Given the description of an element on the screen output the (x, y) to click on. 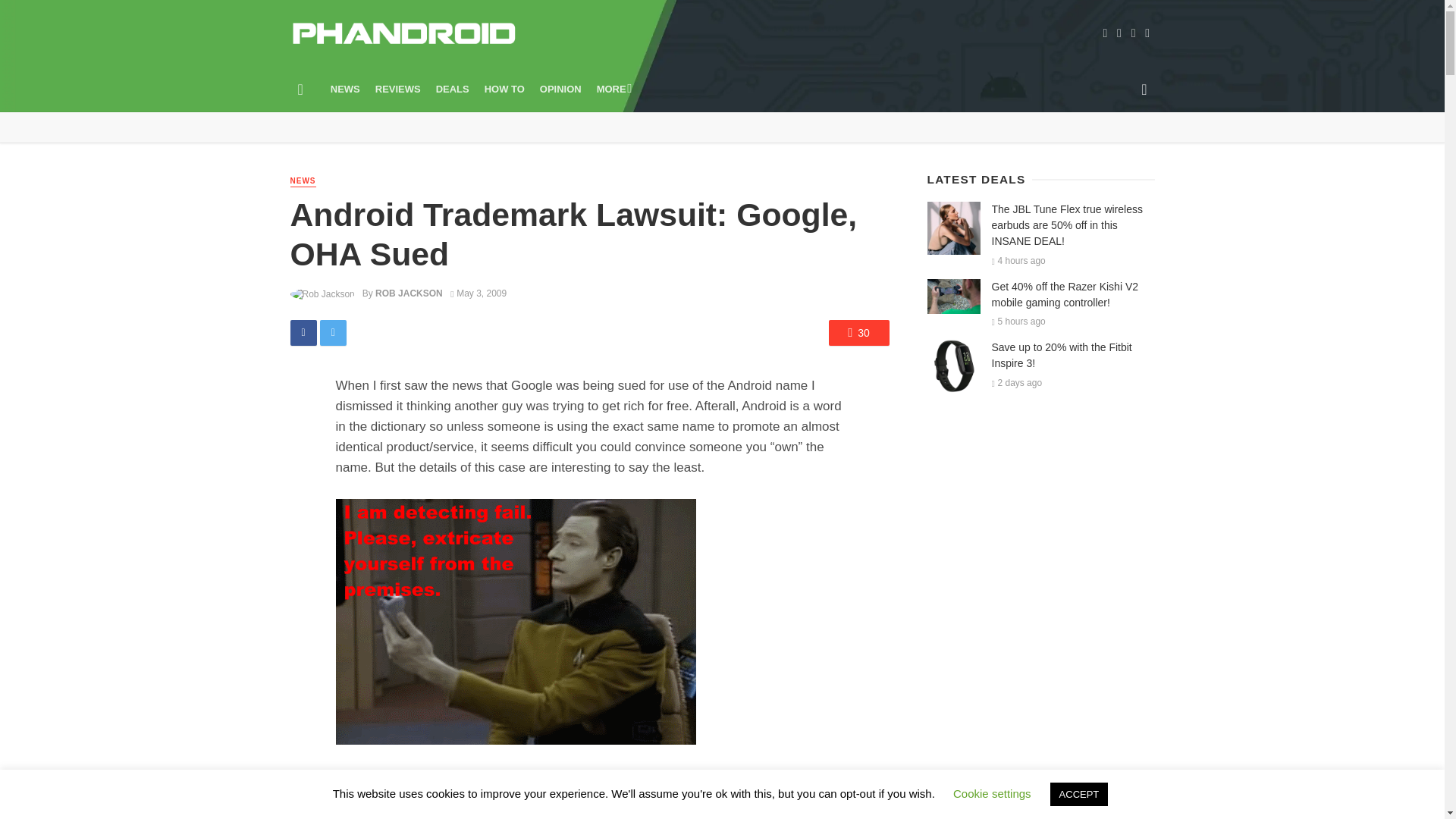
30 (858, 332)
NEWS (345, 89)
Posts by Rob Jackson (408, 293)
androd-data-fail (514, 621)
HOW TO (504, 89)
DEALS (452, 89)
May 3, 2009 at 3:57 pm (477, 293)
NEWS (302, 181)
OPINION (560, 89)
ROB JACKSON (408, 293)
